Given the description of an element on the screen output the (x, y) to click on. 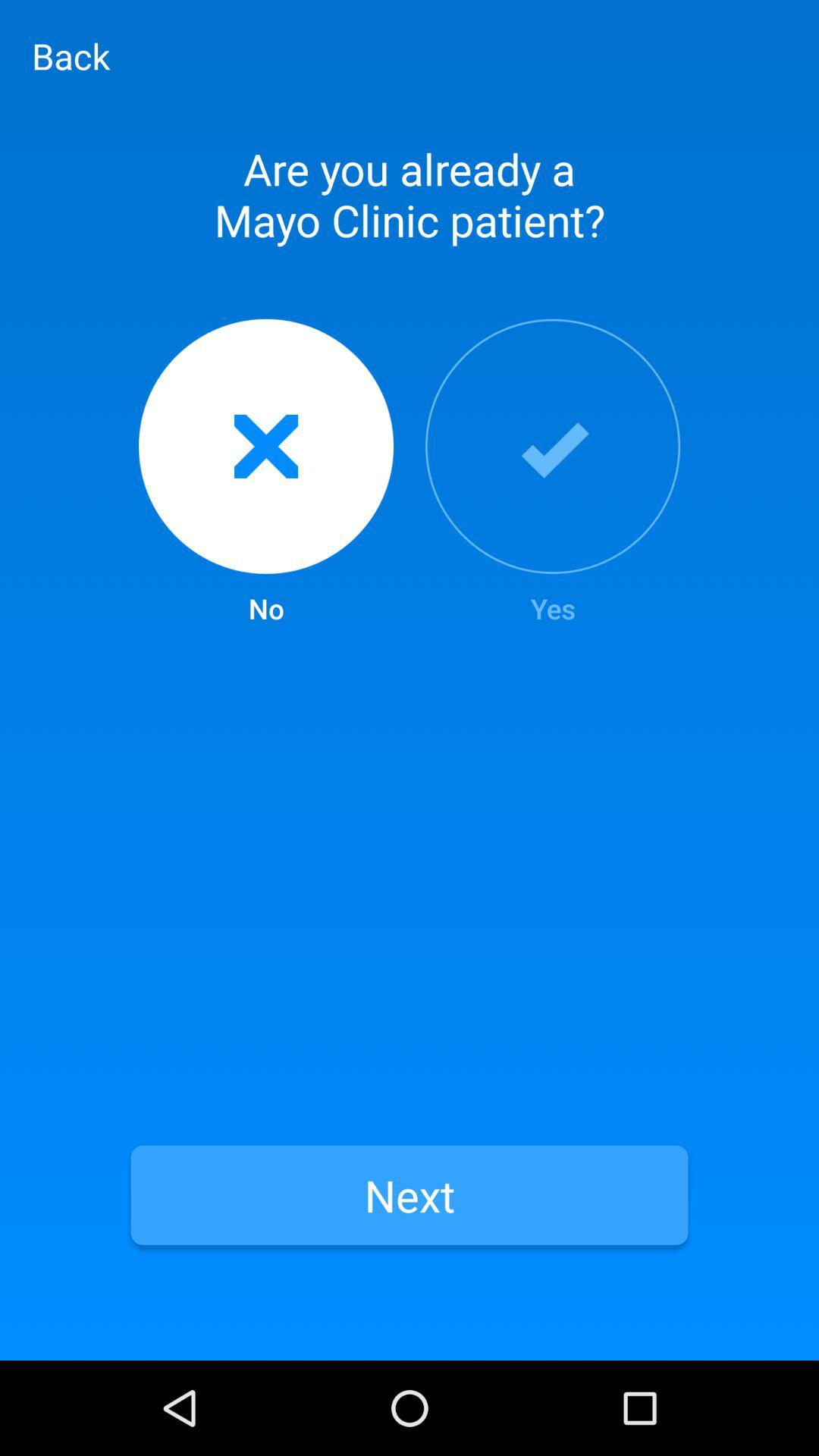
select next icon (409, 1194)
